Given the description of an element on the screen output the (x, y) to click on. 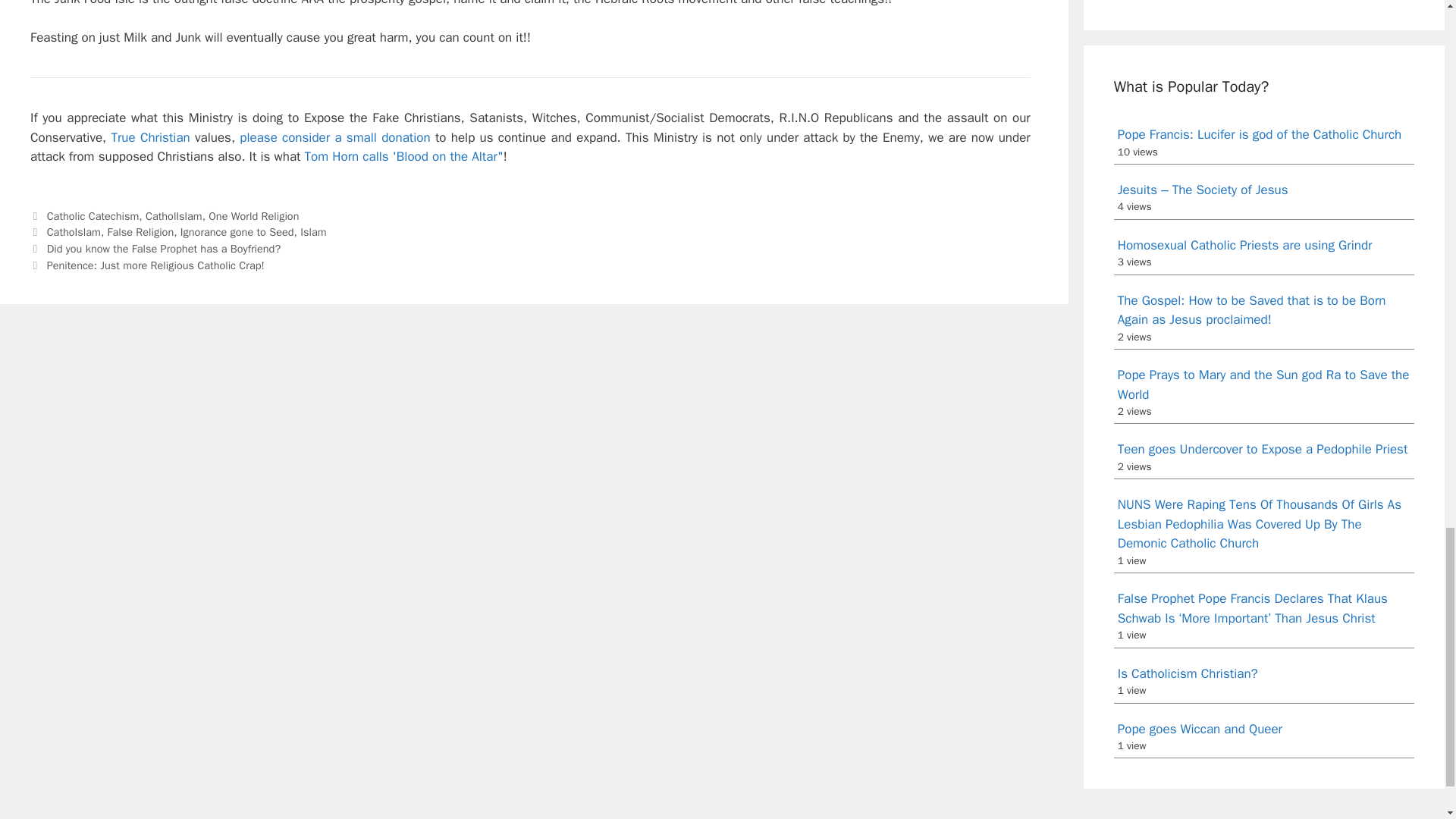
CathoIslam (73, 232)
Islam (312, 232)
Catholic Catechism (92, 215)
True Christian (149, 137)
Tom Horn calls 'Blood on the Altar" (403, 156)
CatholIslam (173, 215)
One World Religion (253, 215)
please consider a small donation (334, 137)
What is a True Christian (149, 137)
Did you know the False Prophet has a Boyfriend? (163, 248)
False Religion (140, 232)
Ignorance gone to Seed (237, 232)
